Given the description of an element on the screen output the (x, y) to click on. 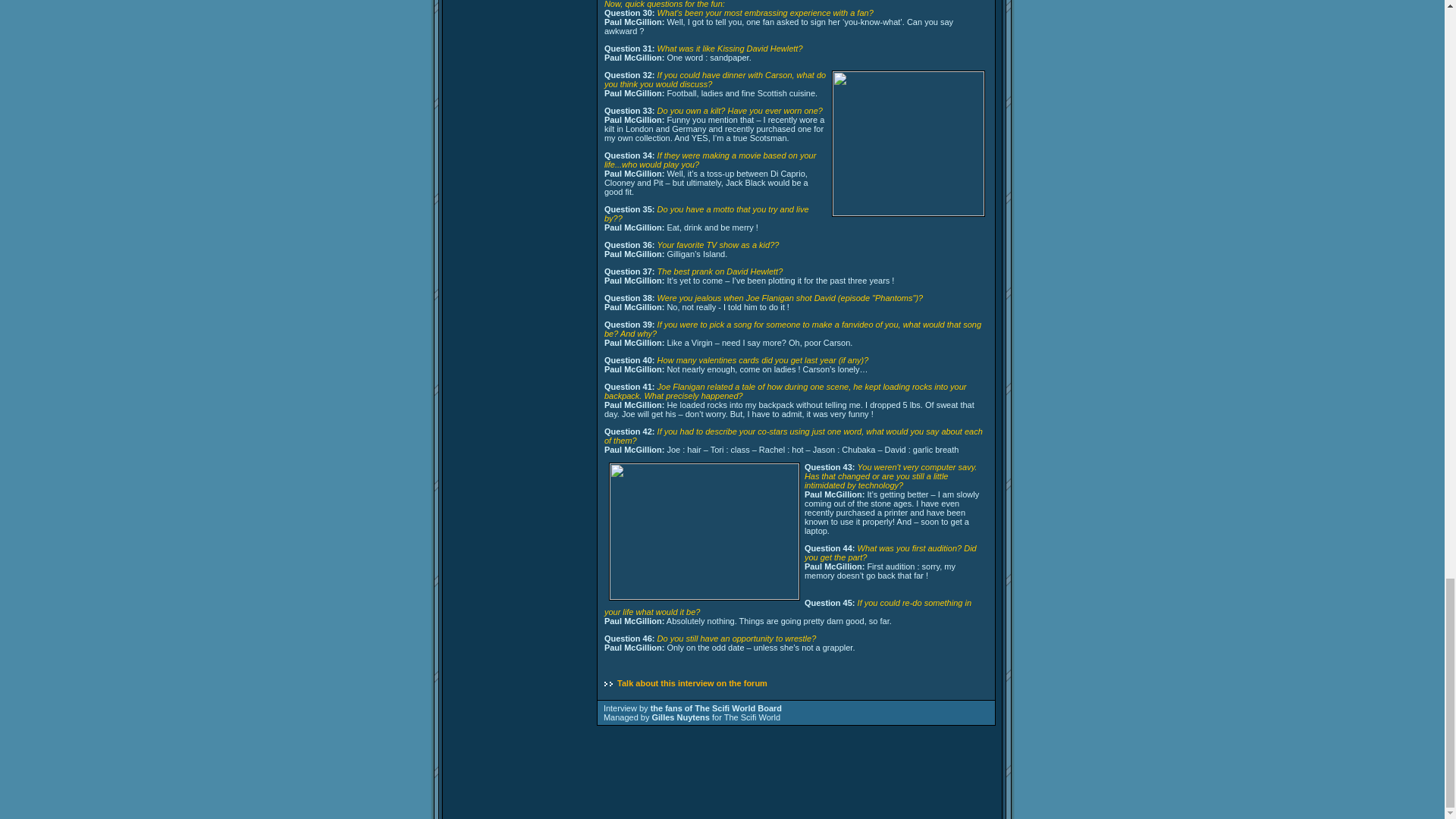
Talk about this interview on the forum (692, 682)
